Given the description of an element on the screen output the (x, y) to click on. 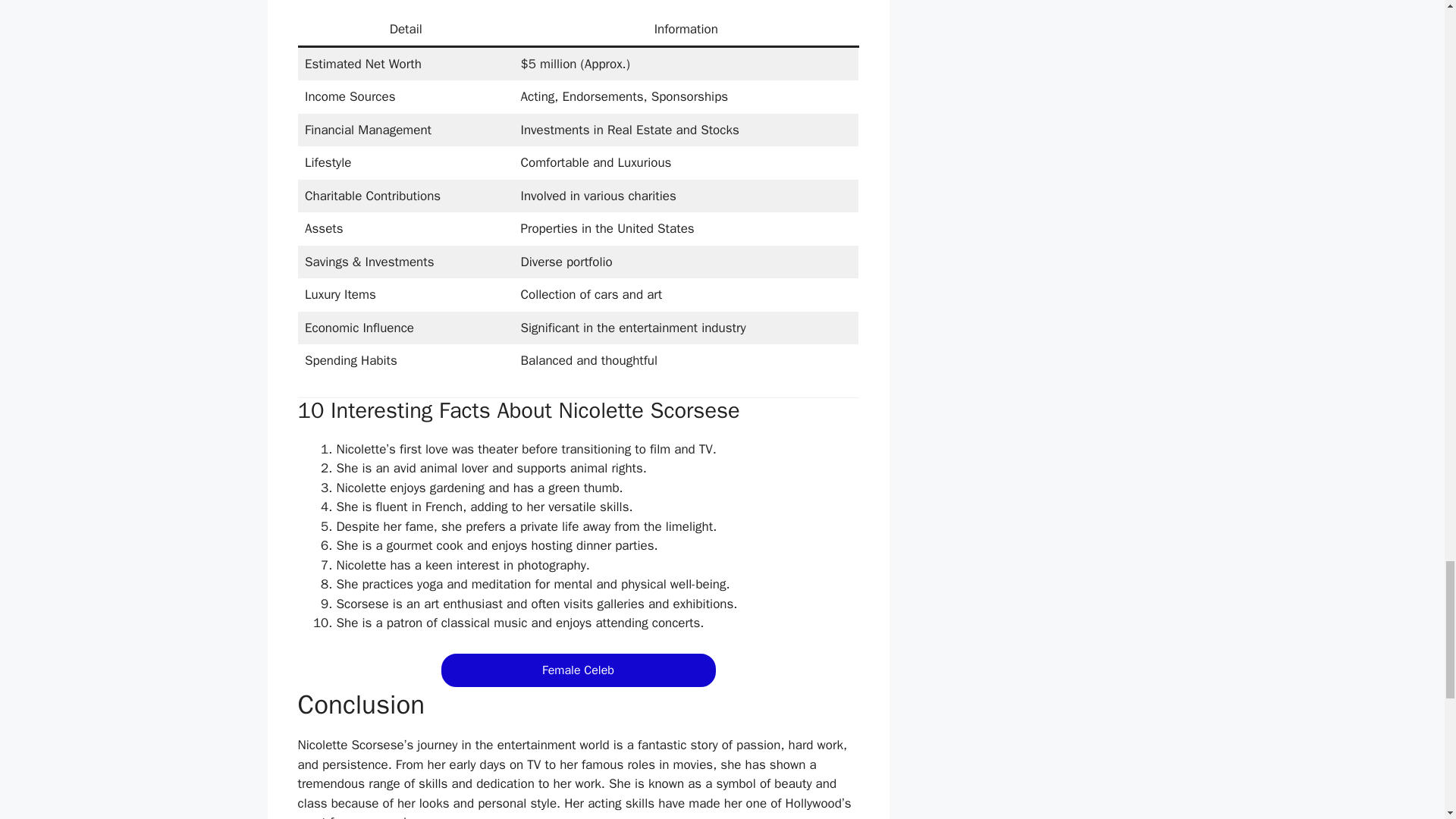
Female Celeb (578, 669)
